Given the description of an element on the screen output the (x, y) to click on. 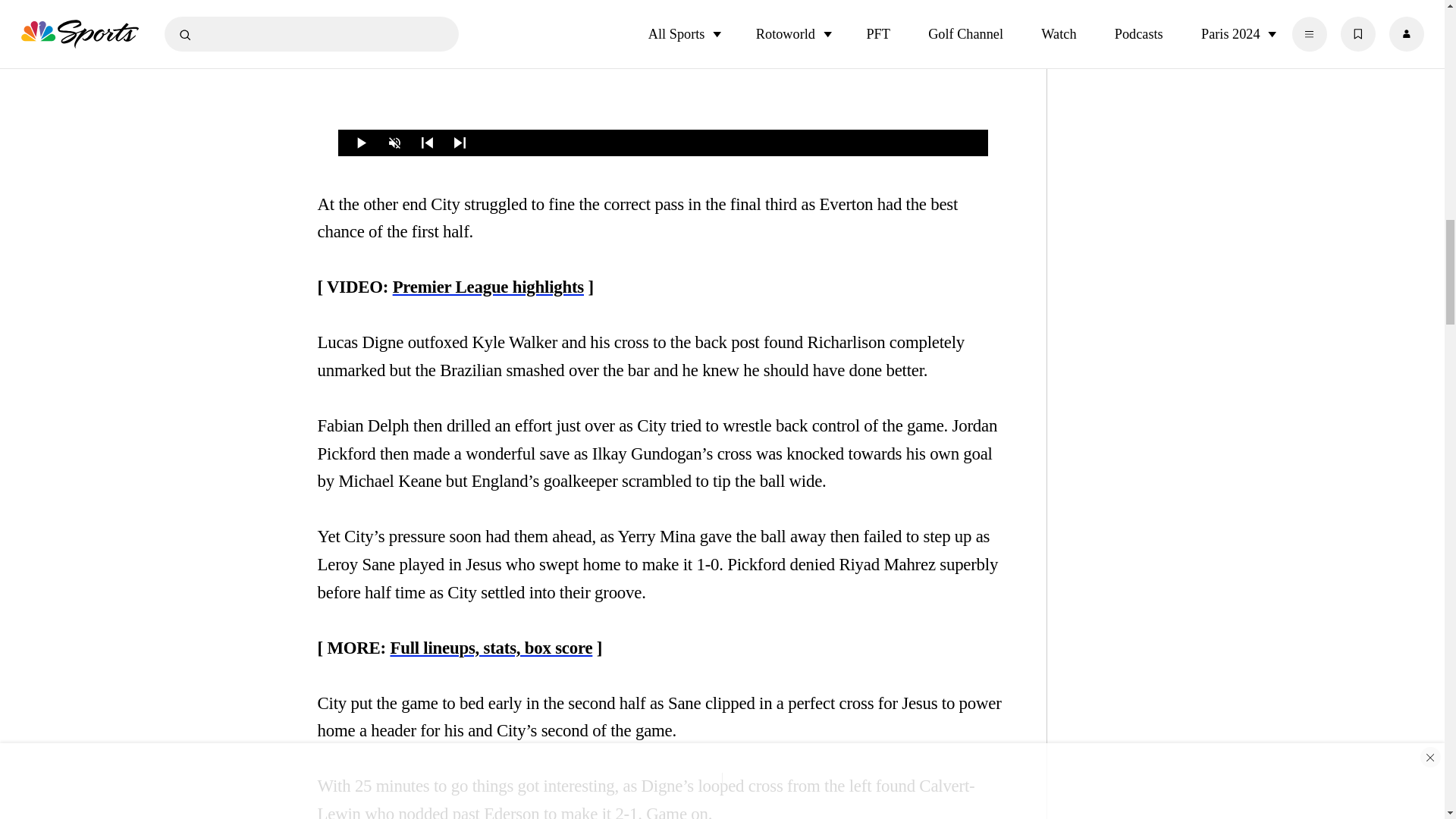
Must watch - top videos player (662, 78)
